Given the description of an element on the screen output the (x, y) to click on. 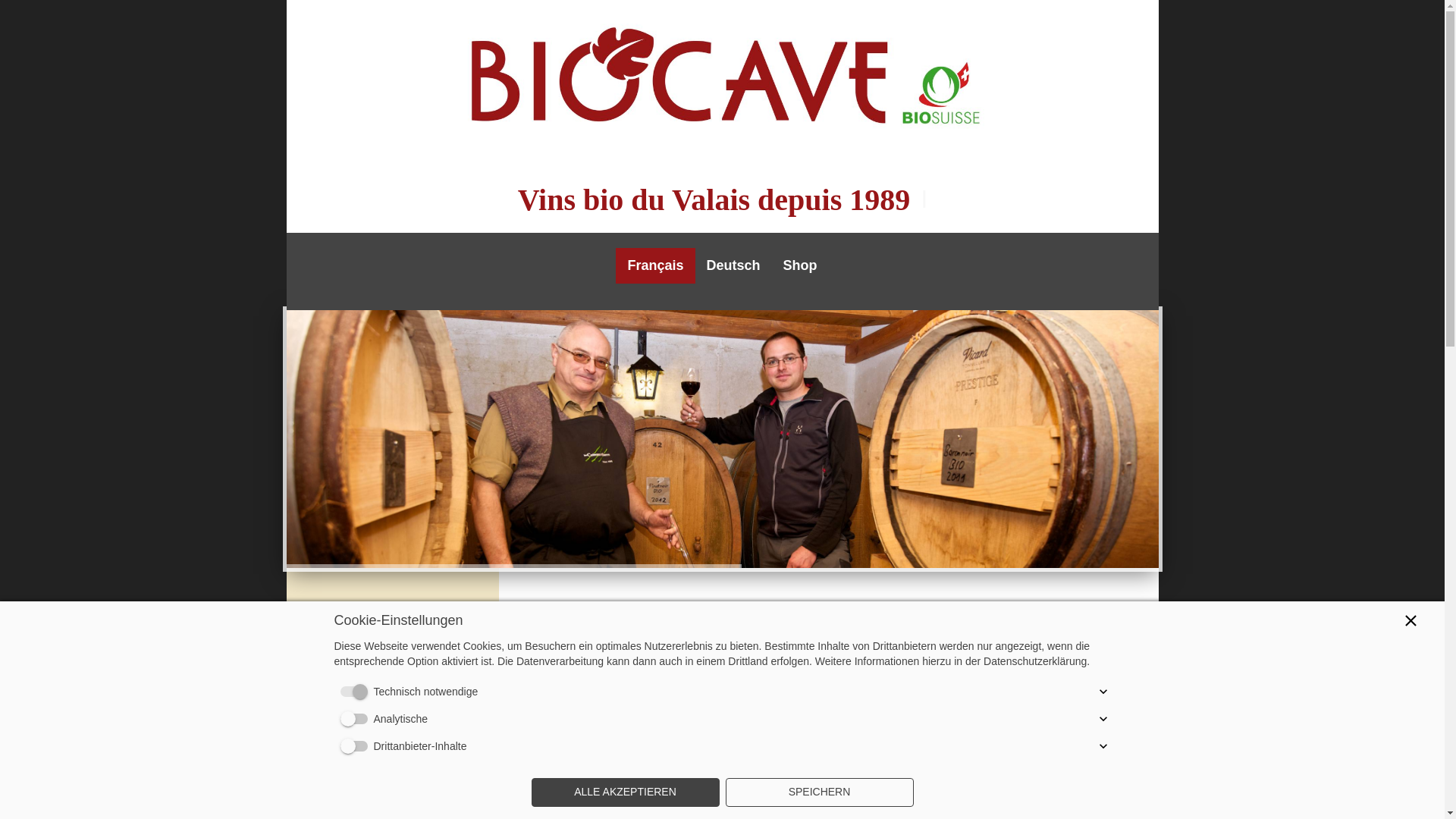
Domaine Element type: text (391, 626)
Parrainage Element type: text (391, 699)
ALLE AKZEPTIEREN Element type: text (624, 792)
Contact Element type: text (391, 772)
SPEICHERN Element type: text (818, 792)
Deutsch Element type: text (733, 265)
Shop Element type: text (799, 265)
